Given the description of an element on the screen output the (x, y) to click on. 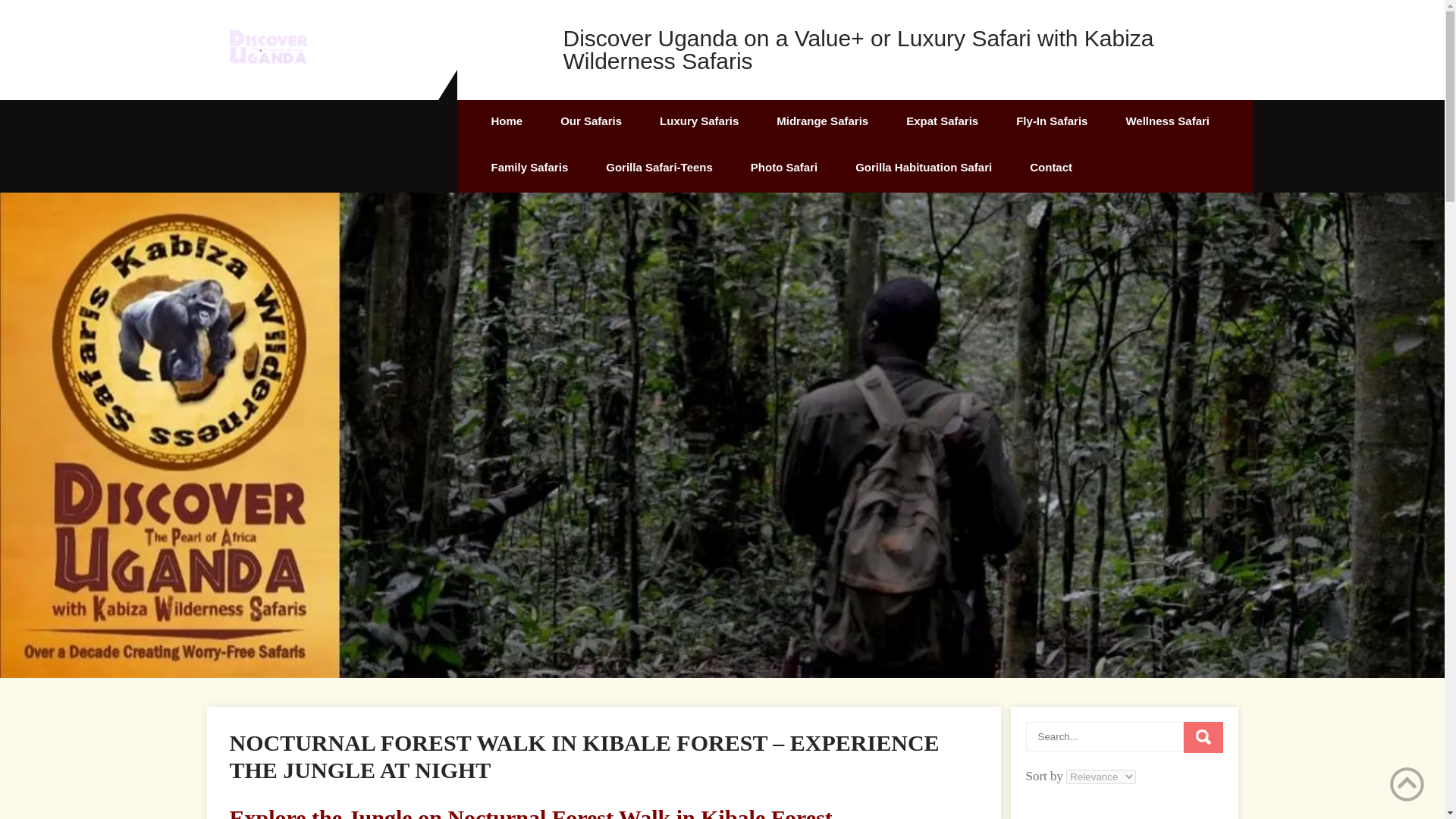
Gorilla Safari-Teens (659, 169)
Midrange Safaris (821, 122)
Search (1202, 736)
Expat Safaris (941, 122)
Search (1202, 736)
Contact (1050, 169)
Home (506, 122)
Fly-In Safaris (1051, 122)
Gorilla Habituation Safari (922, 169)
Our Safaris (590, 122)
